Given the description of an element on the screen output the (x, y) to click on. 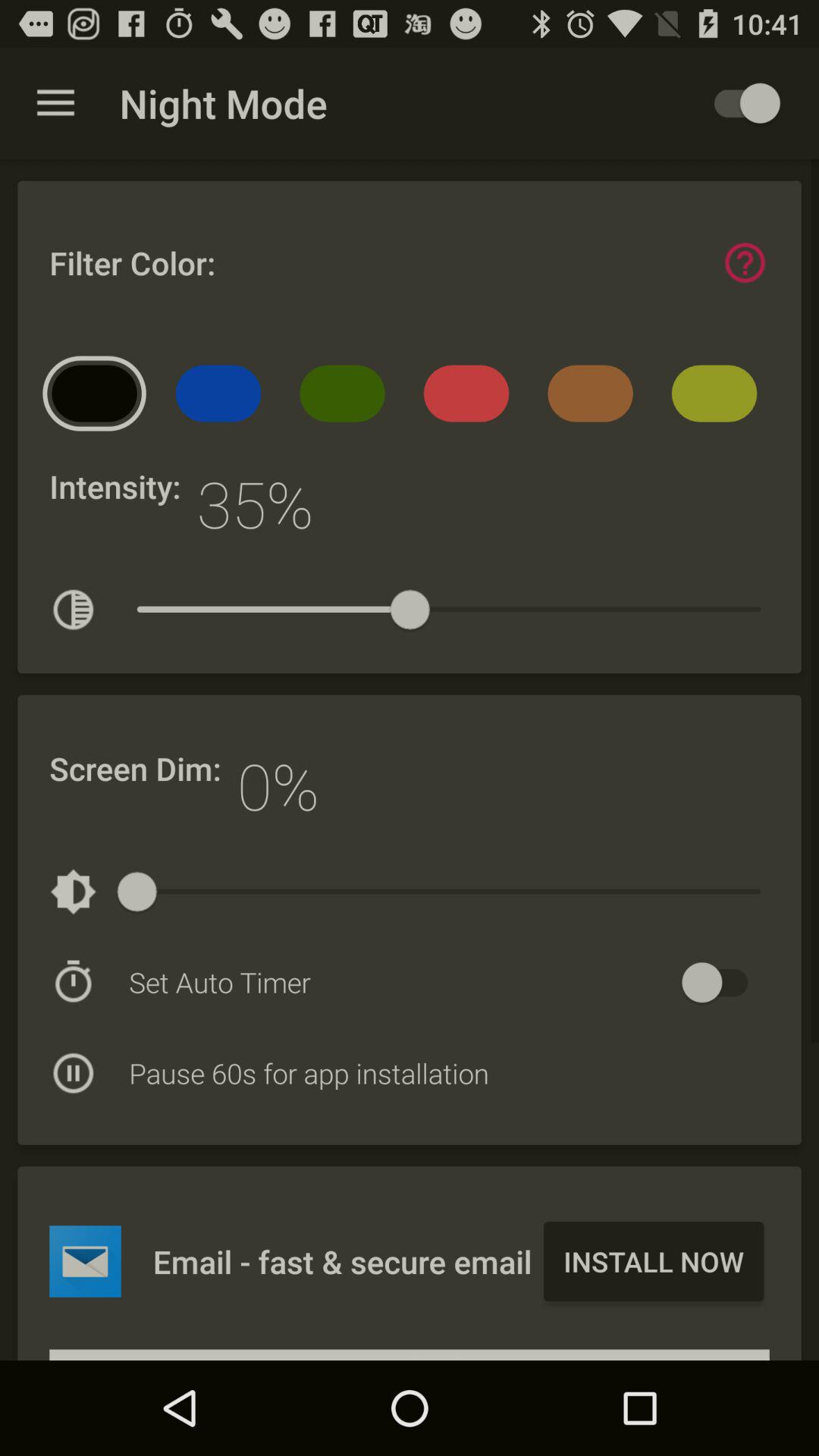
switch night modo option (739, 103)
